Given the description of an element on the screen output the (x, y) to click on. 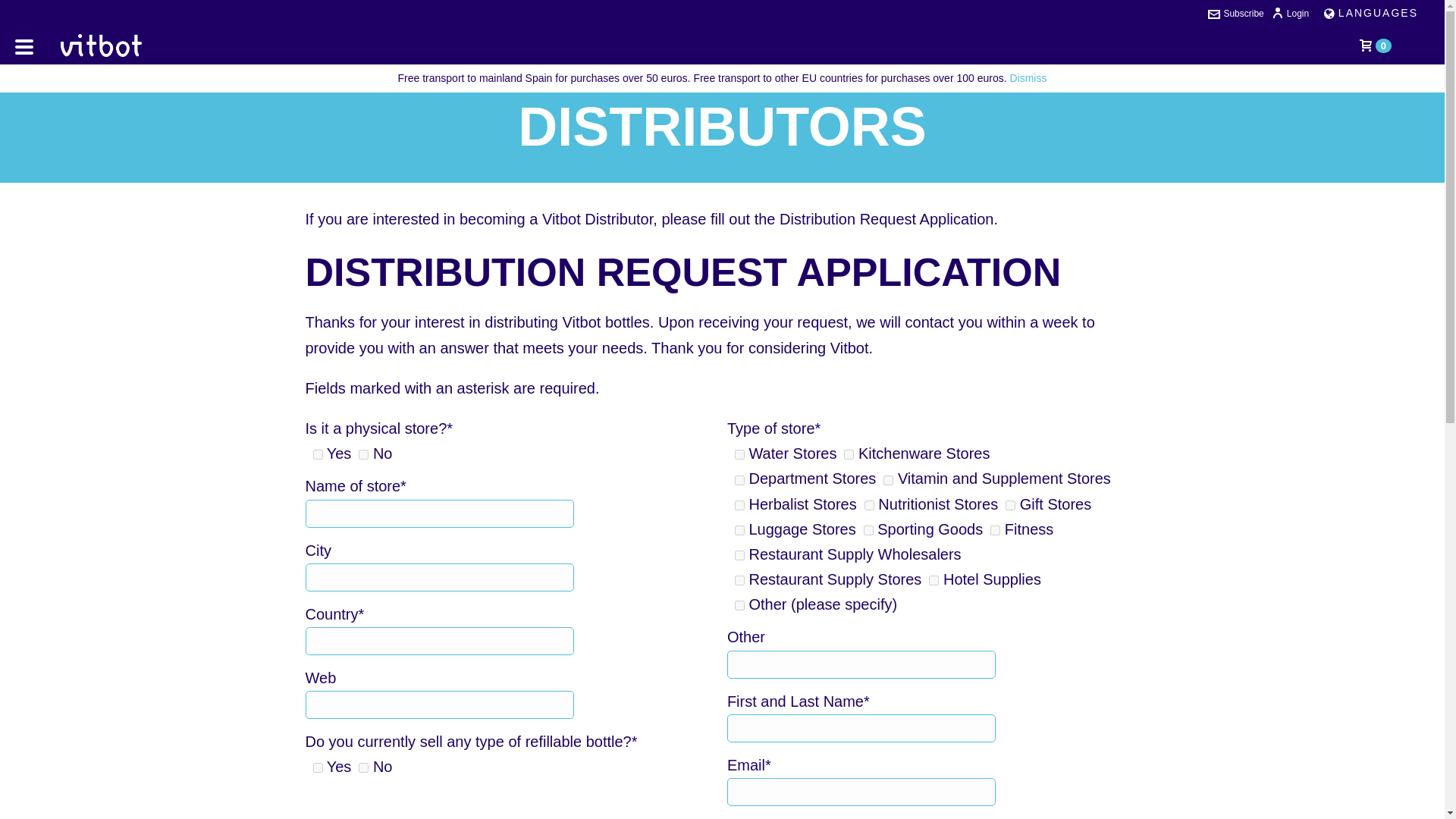
Fitness (995, 530)
Login (1289, 13)
Subscribe (1235, 13)
No (363, 454)
Water Stores (739, 454)
Gift Stores (1010, 505)
Luggage Stores (739, 530)
Herbalist Stores (739, 505)
Vitamin and Supplement Stores (888, 480)
Nutritionist Stores (869, 505)
